Given the description of an element on the screen output the (x, y) to click on. 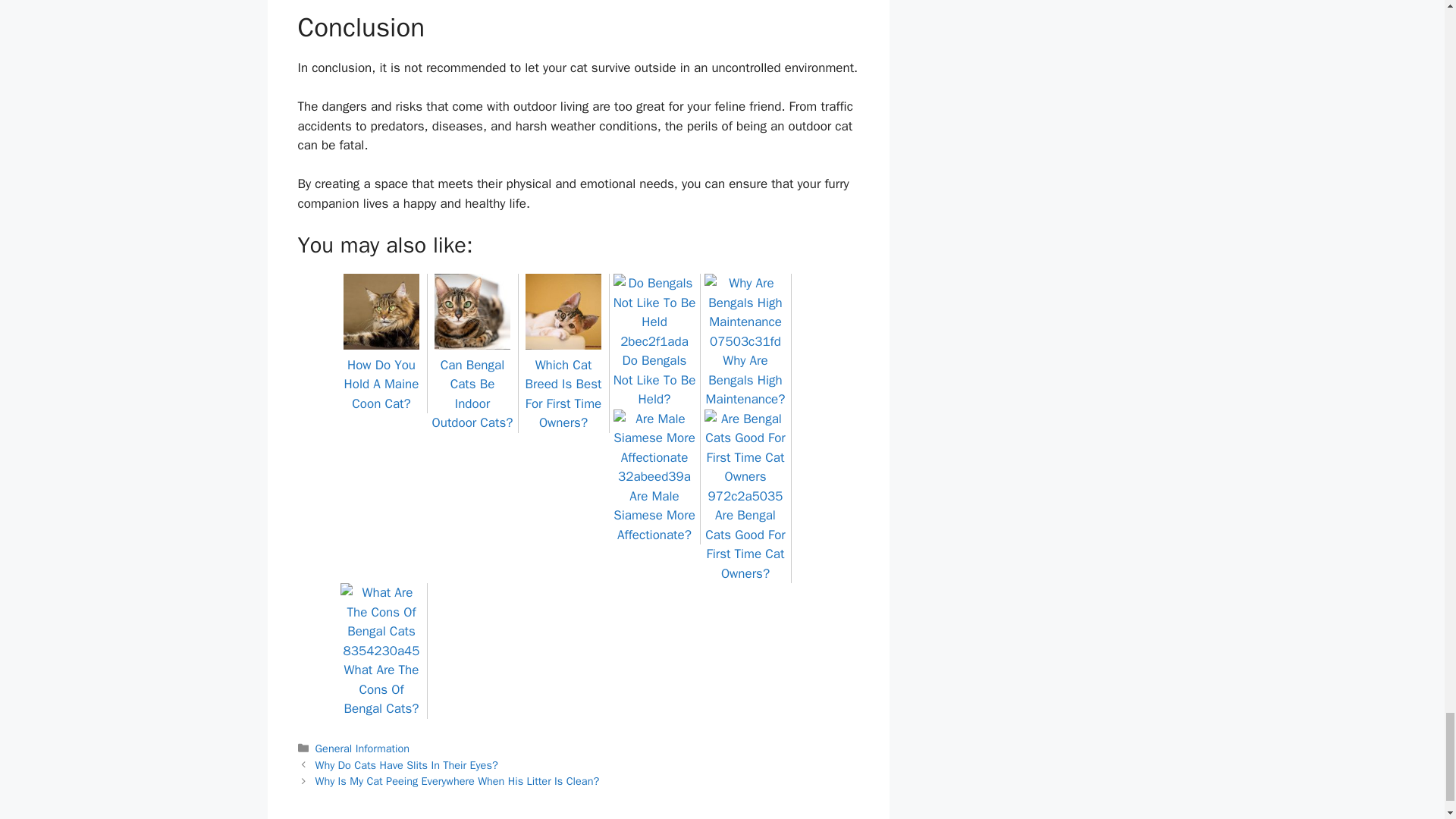
Are Bengal Cats Good For First Time Cat Owners? 7 (744, 457)
Are Bengal Cats Good For First Time Cat Owners? (744, 534)
Do Bengals Not Like To Be Held? (653, 370)
How Do You Hold A Maine Coon Cat? 1 (381, 311)
Do Bengals Not Like To Be Held? 4 (653, 312)
Are Male Siamese More Affectionate? (653, 505)
Can Bengal Cats Be Indoor Outdoor Cats? 2 (472, 311)
Why Is My Cat Peeing Everywhere When His Litter Is Clean? (457, 780)
Which Cat Breed Is Best For First Time Owners? 3 (563, 311)
General Information (362, 748)
Why Are Bengals High Maintenance? 5 (744, 312)
What Are The Cons Of Bengal Cats? 8 (380, 621)
Why Do Cats Have Slits In Their Eyes? (406, 765)
Are Male Siamese More Affectionate? 6 (653, 447)
Why Are Bengals High Maintenance? (744, 370)
